Given the description of an element on the screen output the (x, y) to click on. 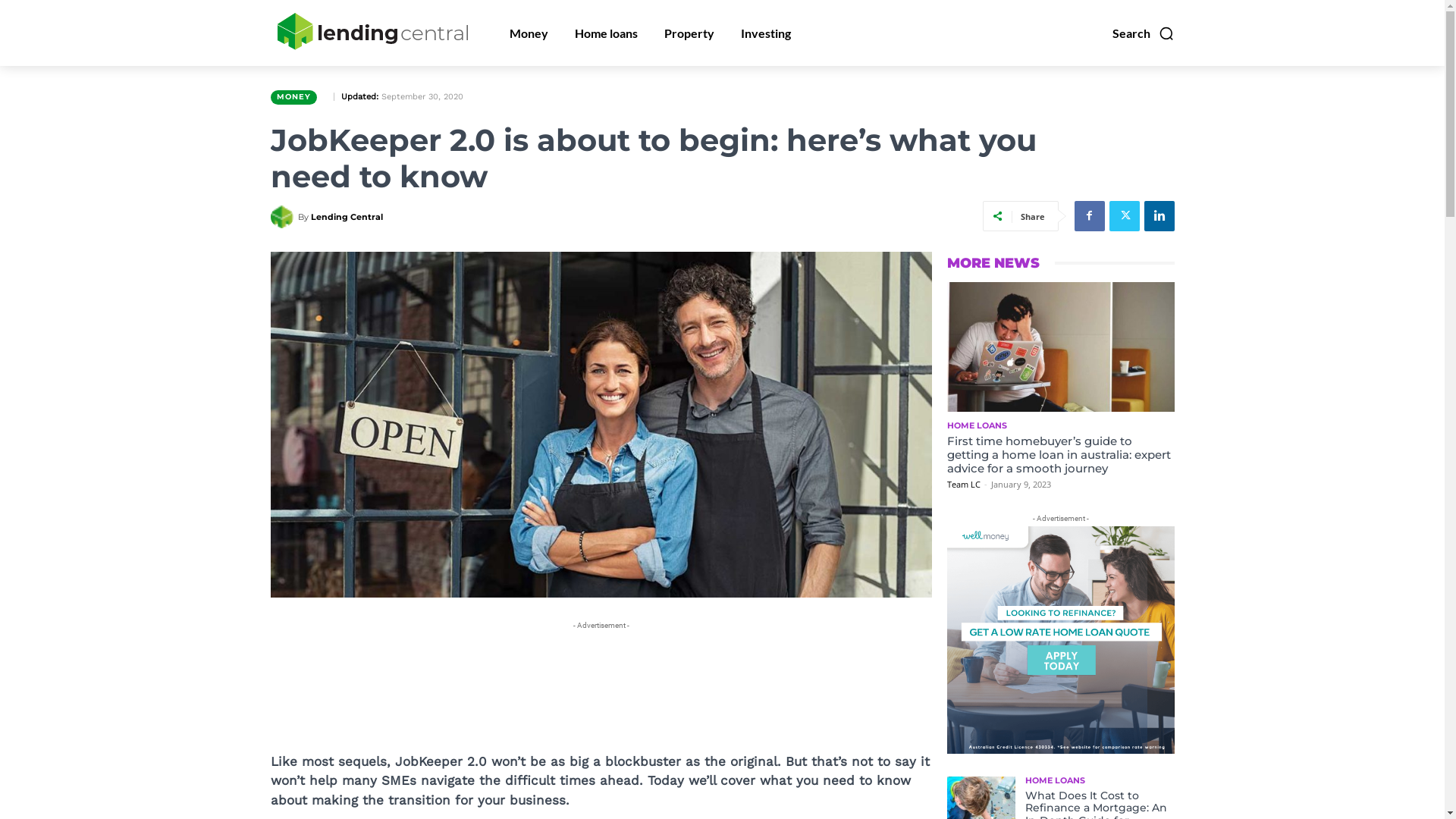
Lending Central Element type: text (346, 216)
MONEY Element type: text (292, 97)
Investing Element type: text (765, 33)
Lending Central Element type: hover (283, 216)
Linkedin Element type: hover (1158, 215)
Team LC Element type: text (962, 483)
Property Element type: text (688, 33)
Home loans Element type: text (605, 33)
Advertisement Element type: hover (545, 667)
Money Element type: text (528, 33)
HOME LOANS Element type: text (976, 425)
Facebook Element type: hover (1088, 215)
HOME LOANS Element type: text (1055, 780)
Twitter Element type: hover (1123, 215)
small-business-owners-couple Element type: hover (600, 424)
Search Element type: text (1142, 33)
